Given the description of an element on the screen output the (x, y) to click on. 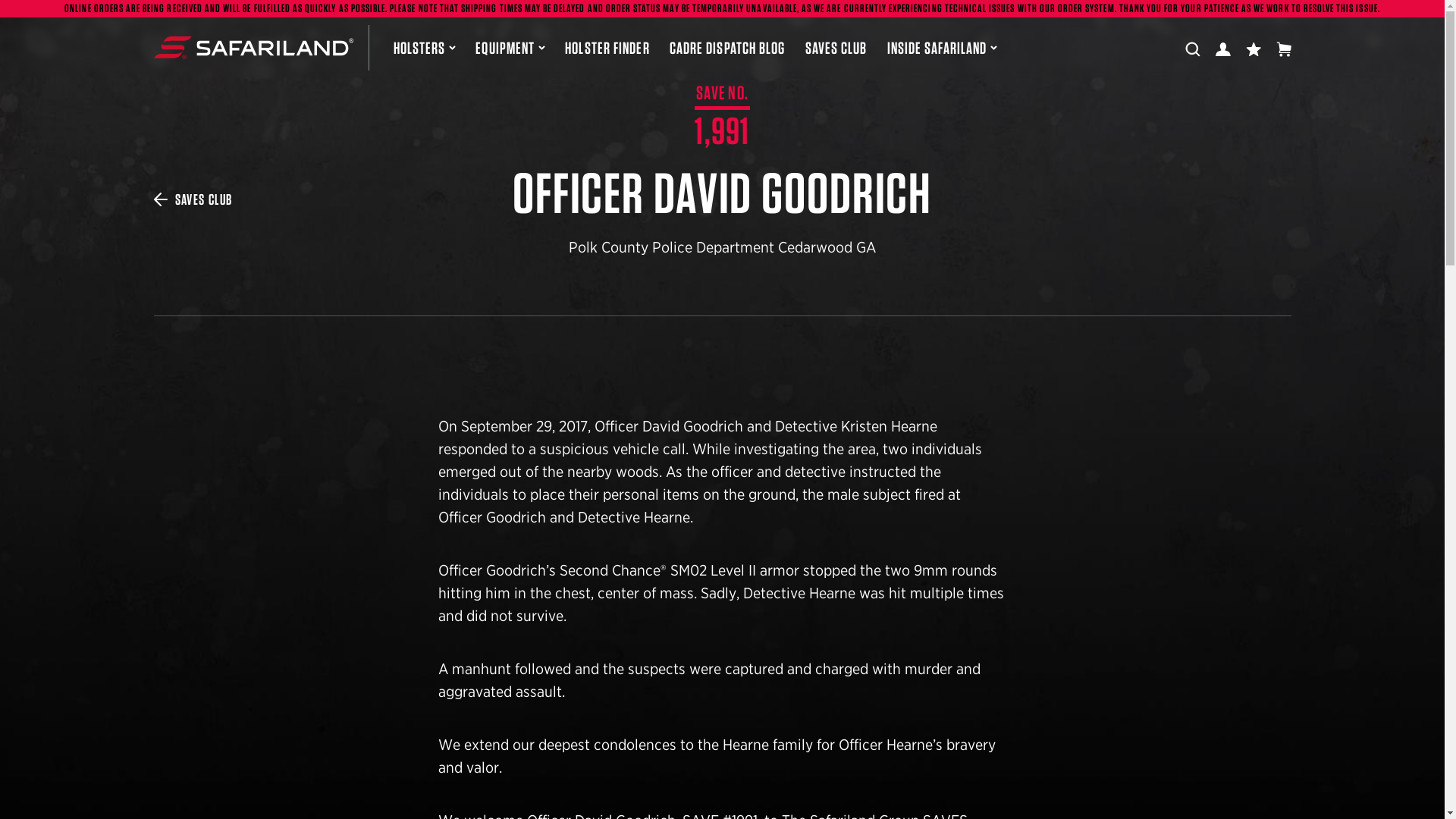
HOLSTERS (424, 47)
Safariland (252, 47)
